Given the description of an element on the screen output the (x, y) to click on. 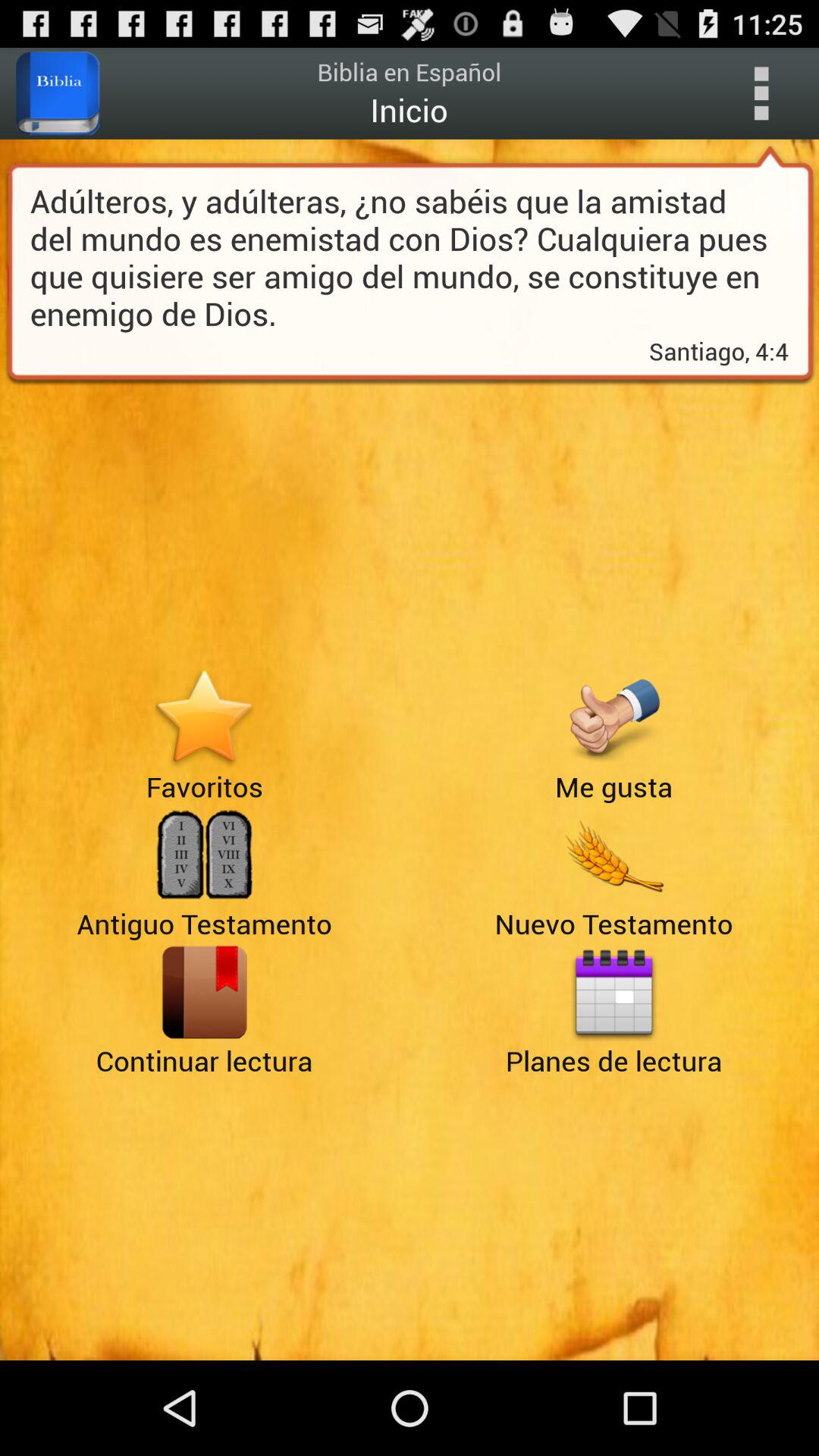
turn off icon to the left of nuevo testamento icon (204, 991)
